Given the description of an element on the screen output the (x, y) to click on. 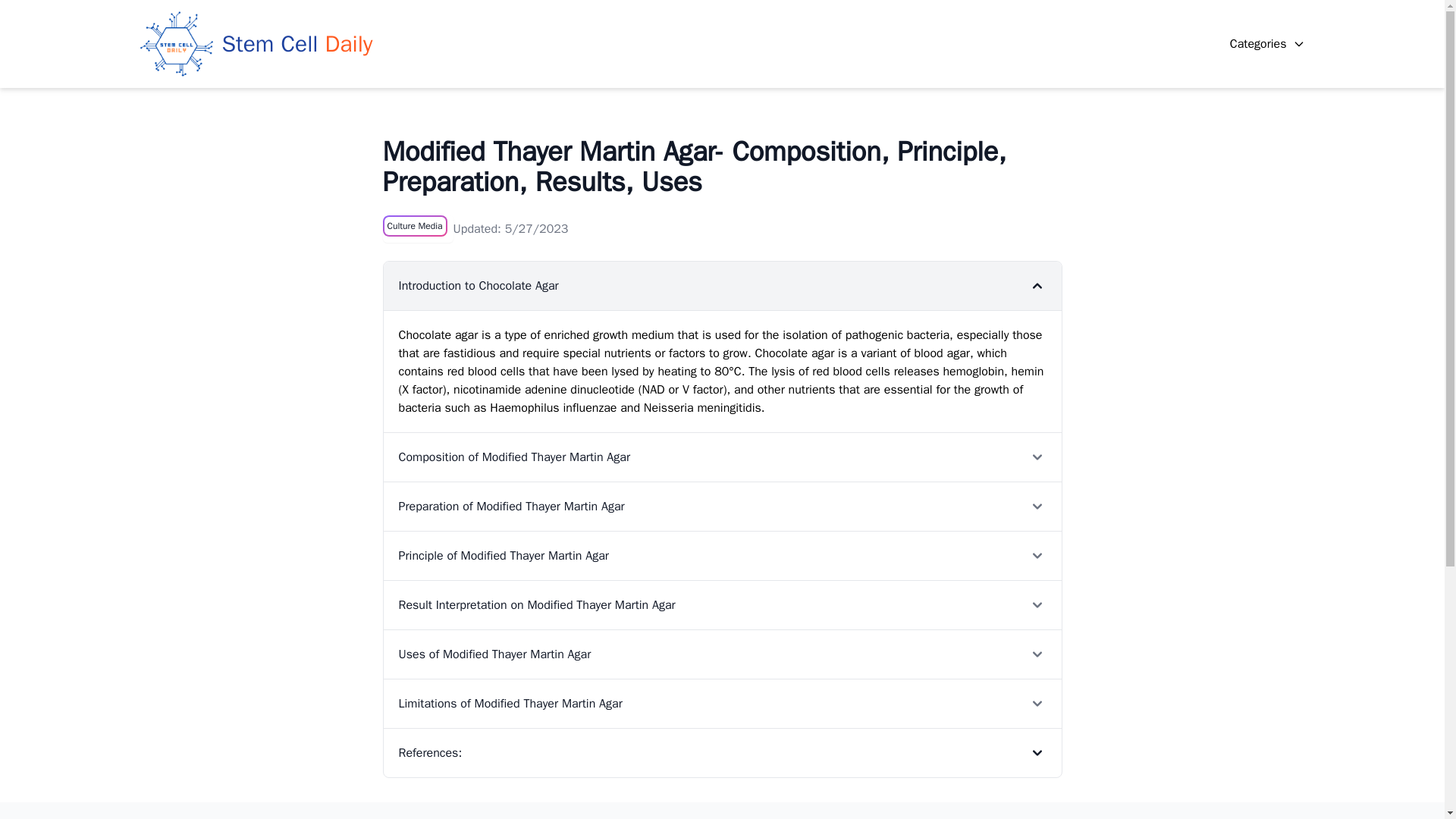
Limitations of Modified Thayer Martin Agar (722, 703)
Preparation of Modified Thayer Martin Agar (722, 505)
Introduction to Chocolate Agar (722, 285)
References: (722, 752)
Principle of Modified Thayer Martin Agar (722, 554)
Composition of Modified Thayer Martin Agar (722, 456)
Culture Media (413, 225)
Culture Media (414, 225)
Uses of Modified Thayer Martin Agar (722, 653)
Stem Cell Daily (255, 43)
Result Interpretation on Modified Thayer Martin Agar (722, 604)
Categories (1267, 44)
